Given the description of an element on the screen output the (x, y) to click on. 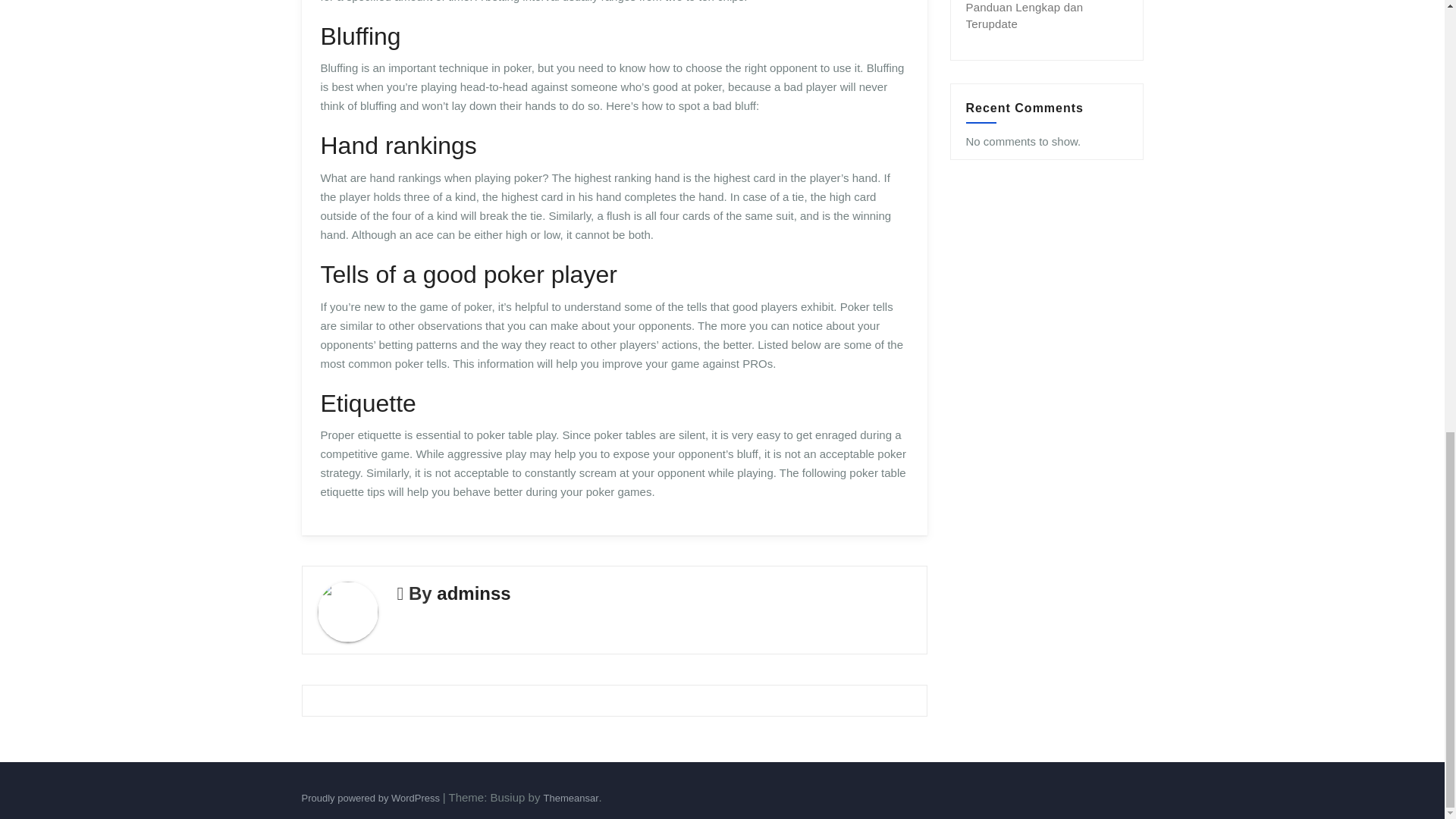
Keajaiban Togel Sidney: Panduan Lengkap dan Terupdate (1028, 15)
Proudly powered by WordPress (371, 797)
adminss (473, 593)
Themeansar (570, 797)
